Given the description of an element on the screen output the (x, y) to click on. 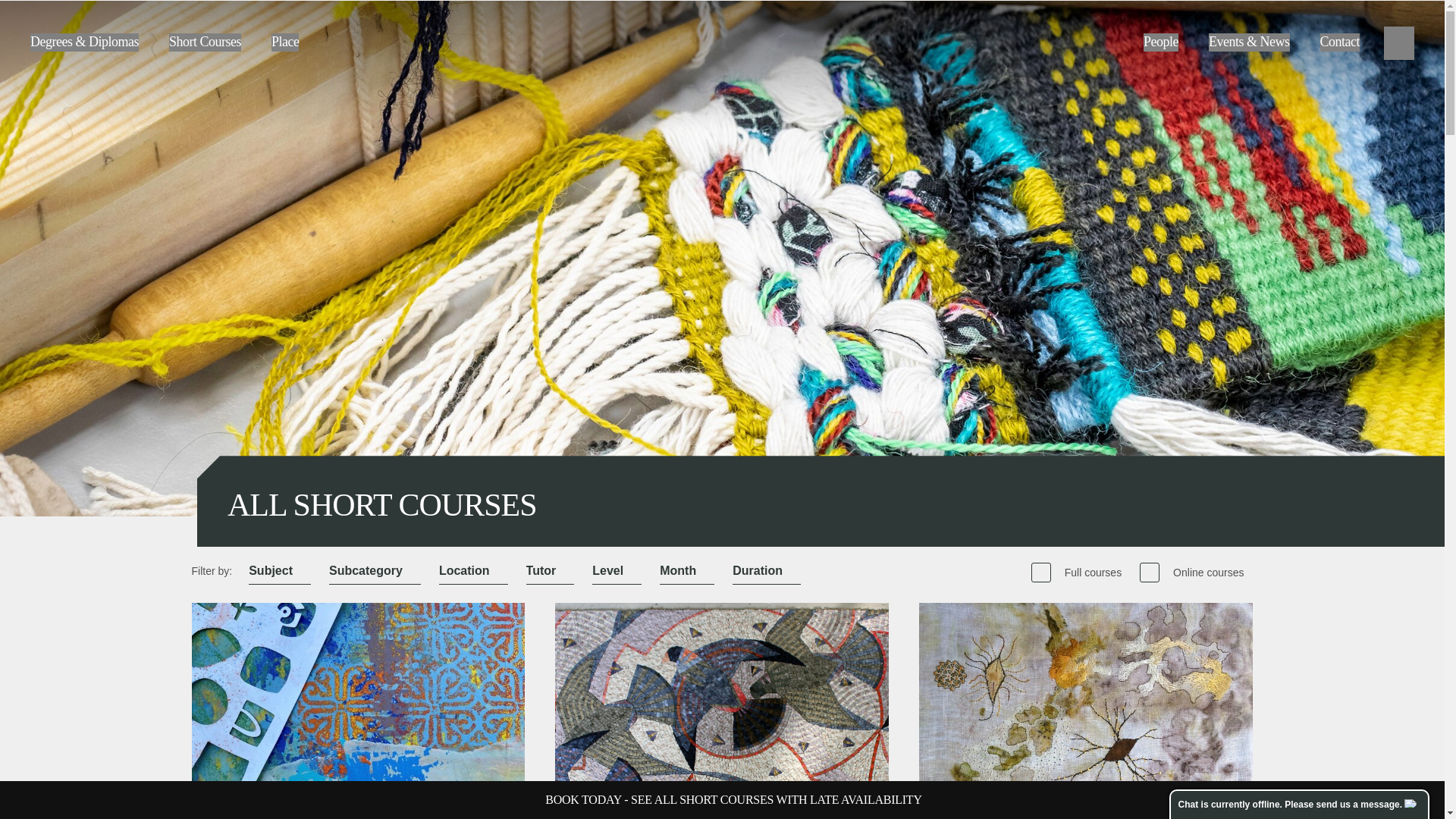
BOOK TODAY - SEE ALL SHORT COURSES WITH LATE AVAILABILITY (732, 799)
yes (1040, 572)
yes (1149, 572)
